Given the description of an element on the screen output the (x, y) to click on. 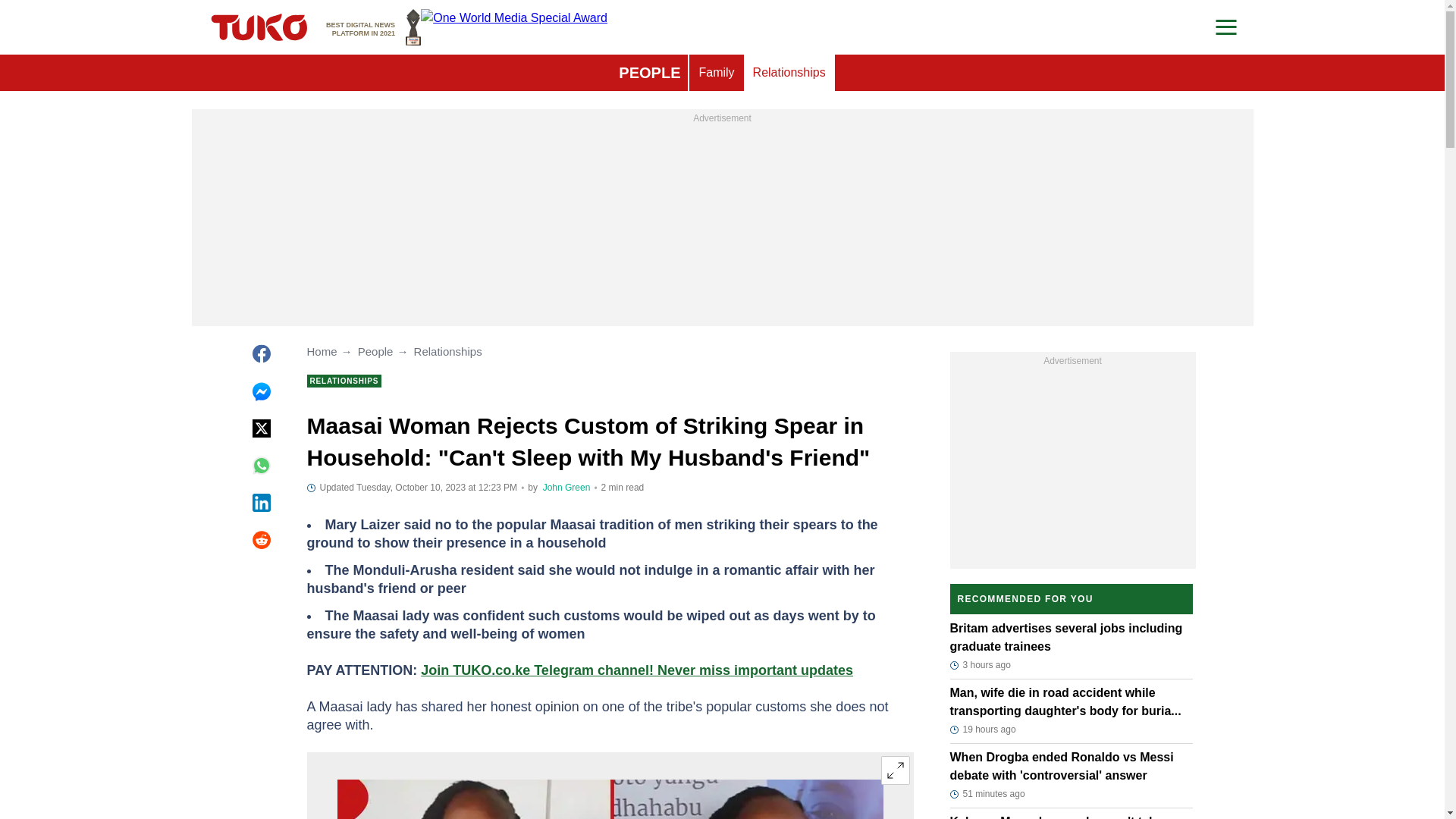
Expand image (895, 769)
Author page (567, 487)
3rd party ad content (373, 27)
Tanzanian woman Mary Laizer on Maasai customs. (721, 221)
Family (609, 799)
Relationships (715, 72)
3rd party ad content (789, 72)
PEOPLE (1072, 464)
